Given the description of an element on the screen output the (x, y) to click on. 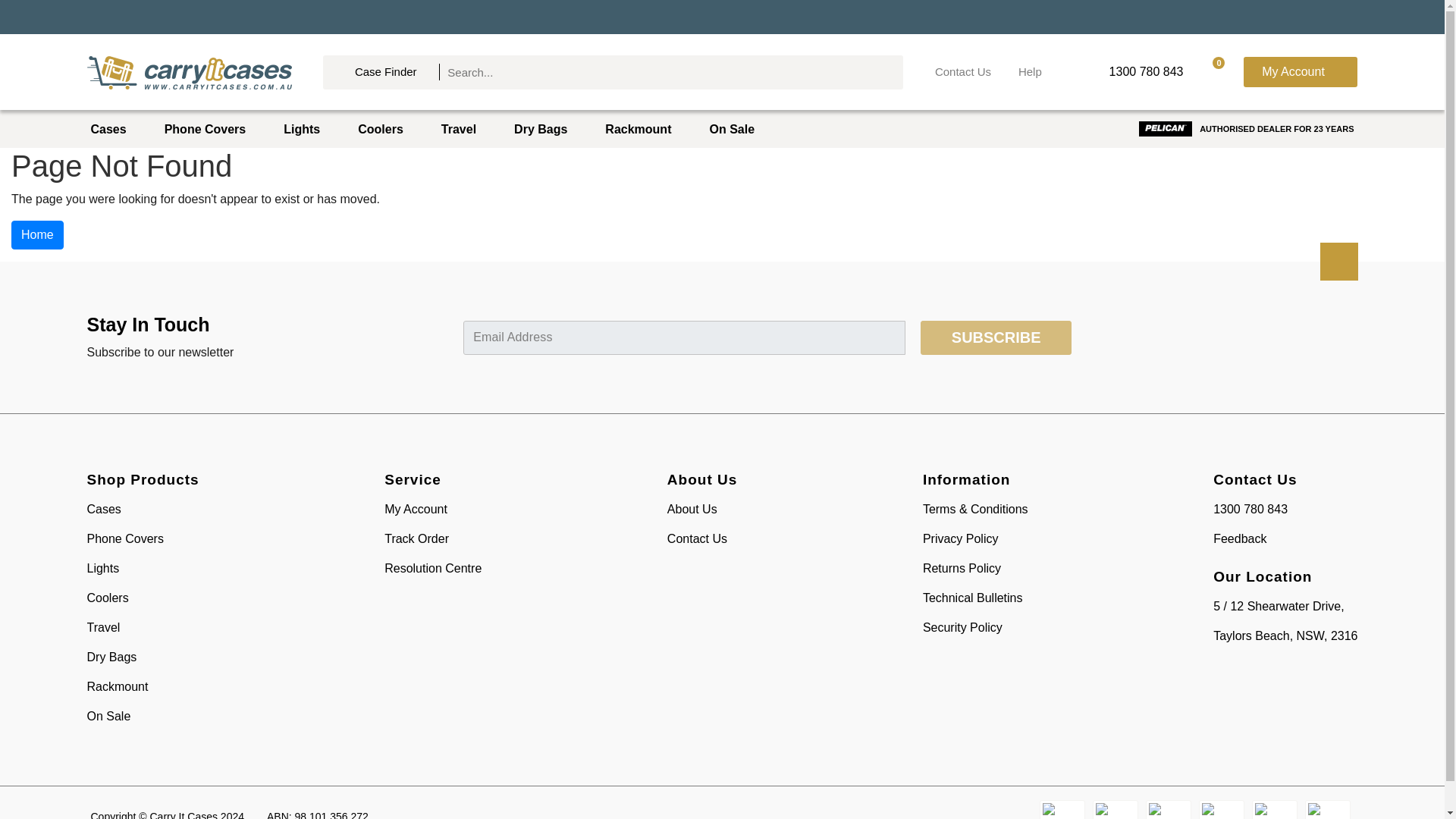
Search (879, 72)
Contact Us (962, 72)
Carry It Cases (188, 71)
1300 780 843 (1133, 71)
Home Page (37, 234)
1300 780 843 (1133, 71)
Subscribe (995, 336)
